Given the description of an element on the screen output the (x, y) to click on. 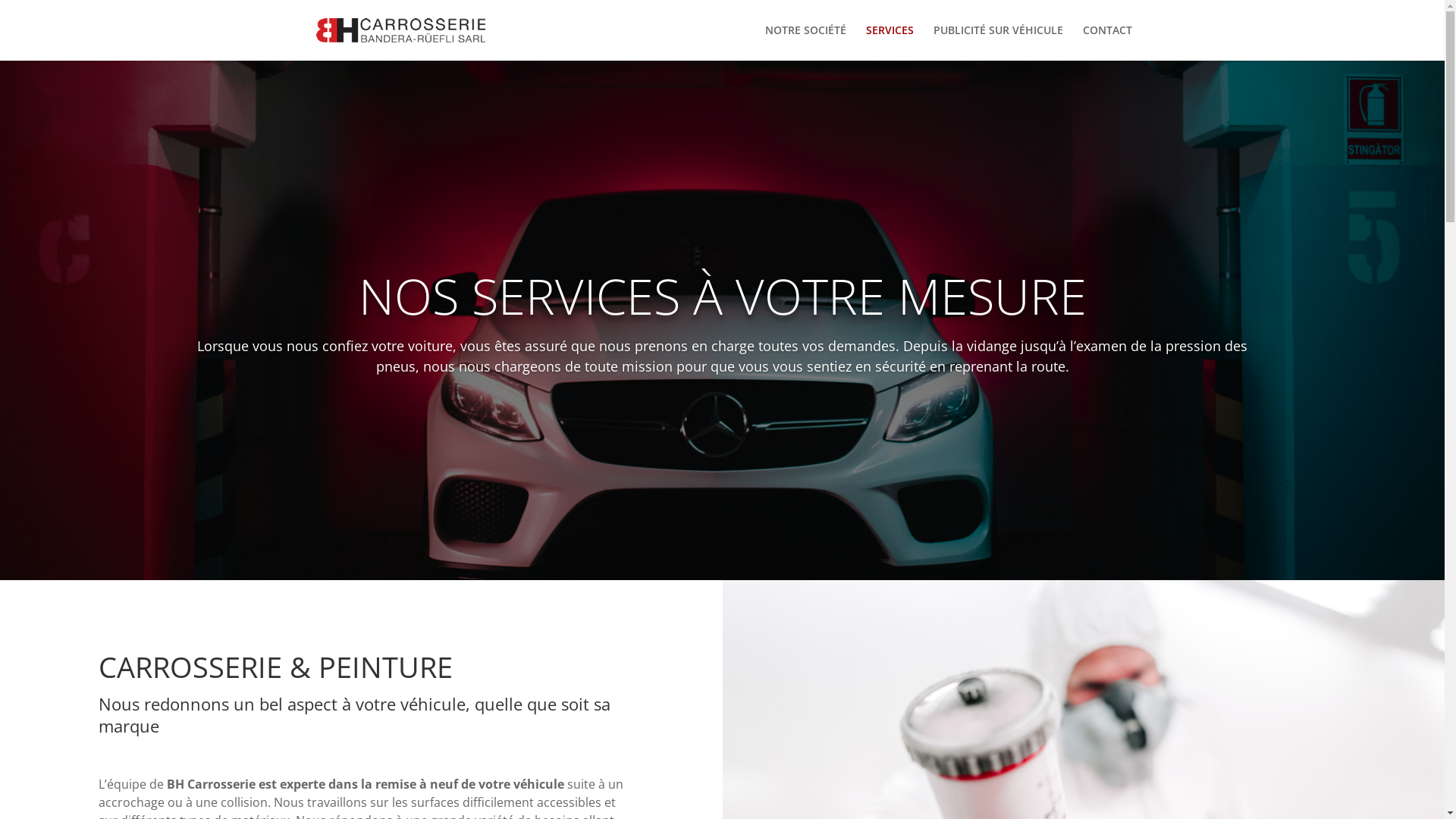
CARROSSERIE Element type: text (190, 666)
CONTACT Element type: text (1107, 42)
SERVICES Element type: text (889, 42)
